Given the description of an element on the screen output the (x, y) to click on. 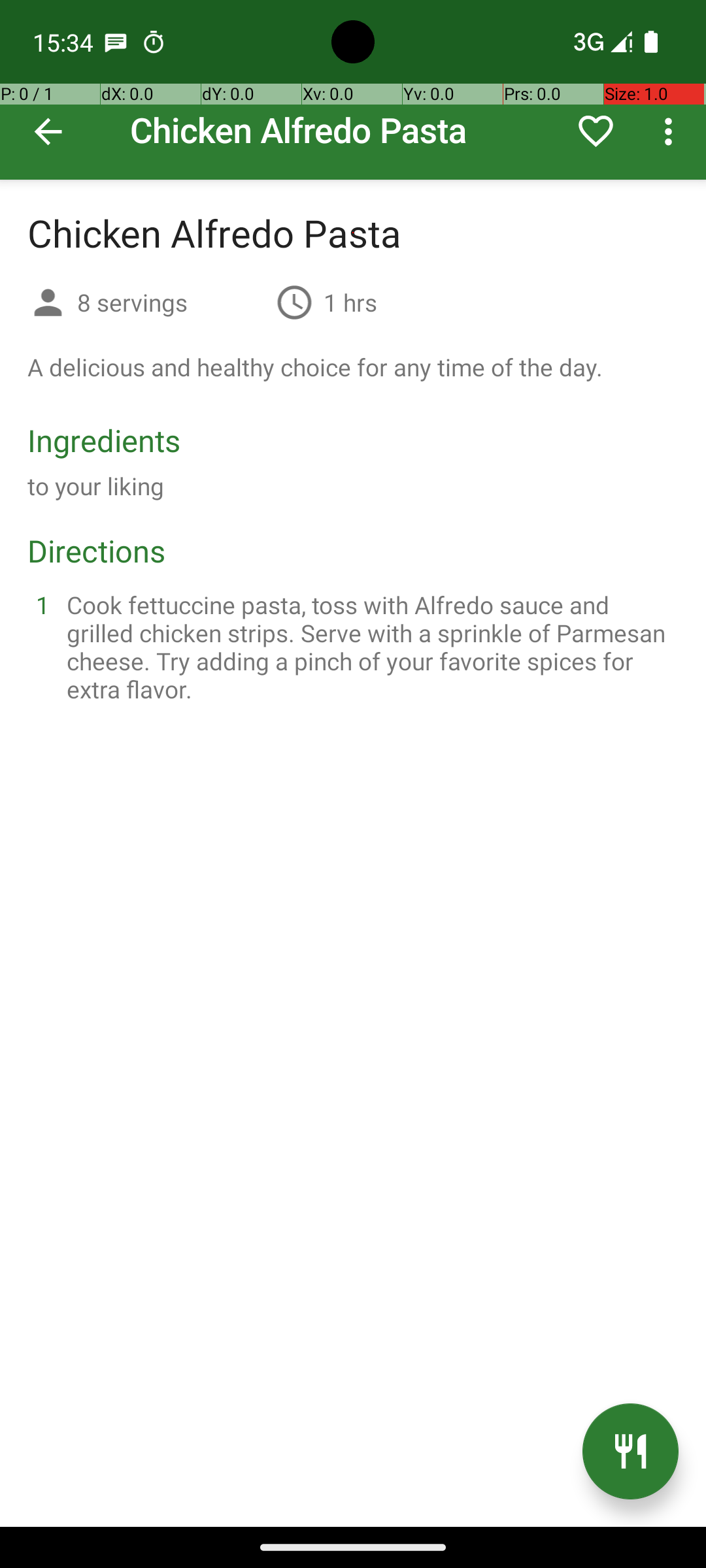
Cook fettuccine pasta, toss with Alfredo sauce and grilled chicken strips. Serve with a sprinkle of Parmesan cheese. Try adding a pinch of your favorite spices for extra flavor. Element type: android.widget.TextView (368, 646)
